Given the description of an element on the screen output the (x, y) to click on. 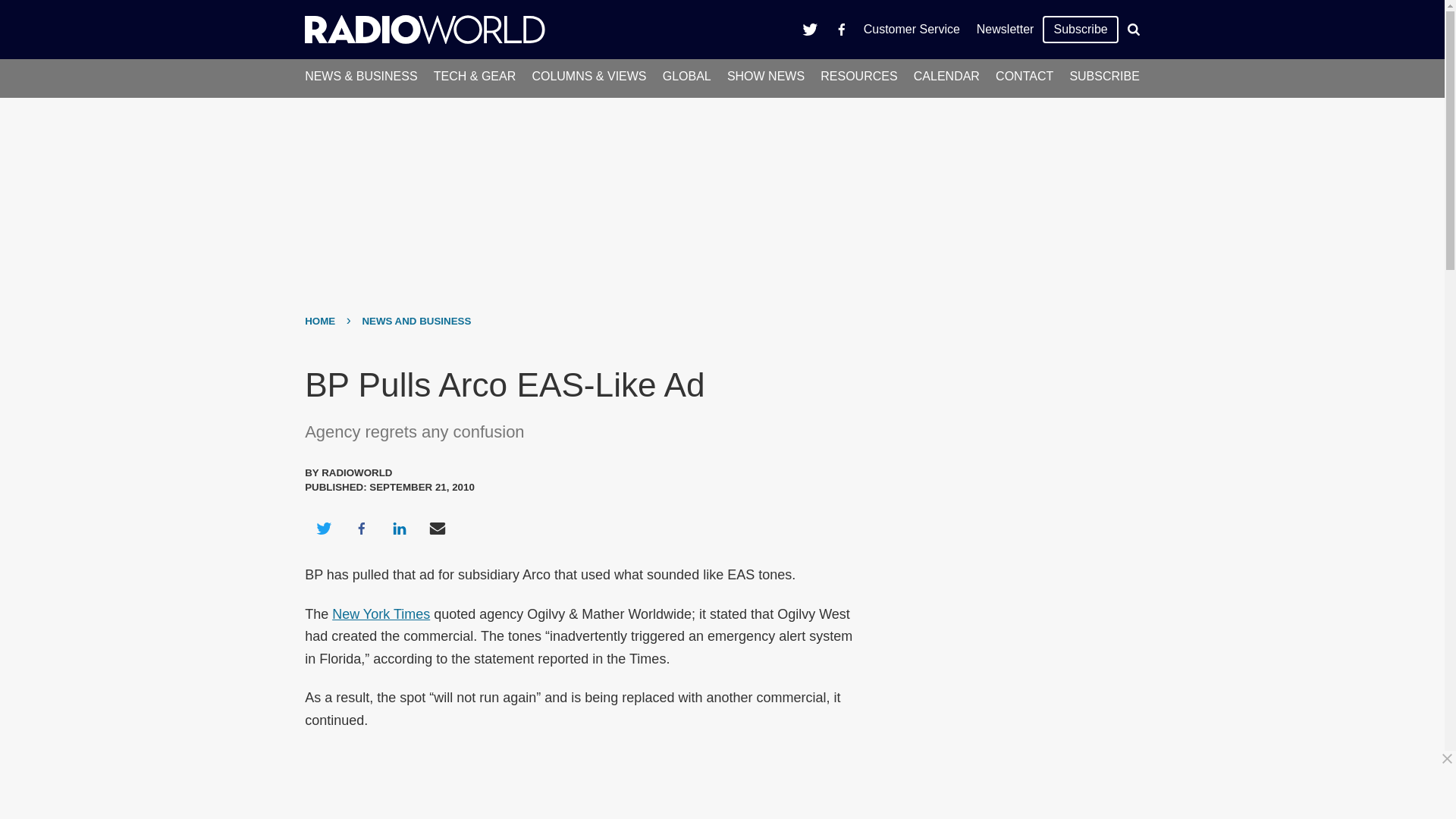
Share on Twitter (323, 528)
Advertisement (727, 785)
Share via Email (438, 528)
Customer Service (912, 29)
Newsletter (1005, 29)
Share on LinkedIn (399, 528)
Advertisement (1005, 461)
Share on Facebook (361, 528)
